Given the description of an element on the screen output the (x, y) to click on. 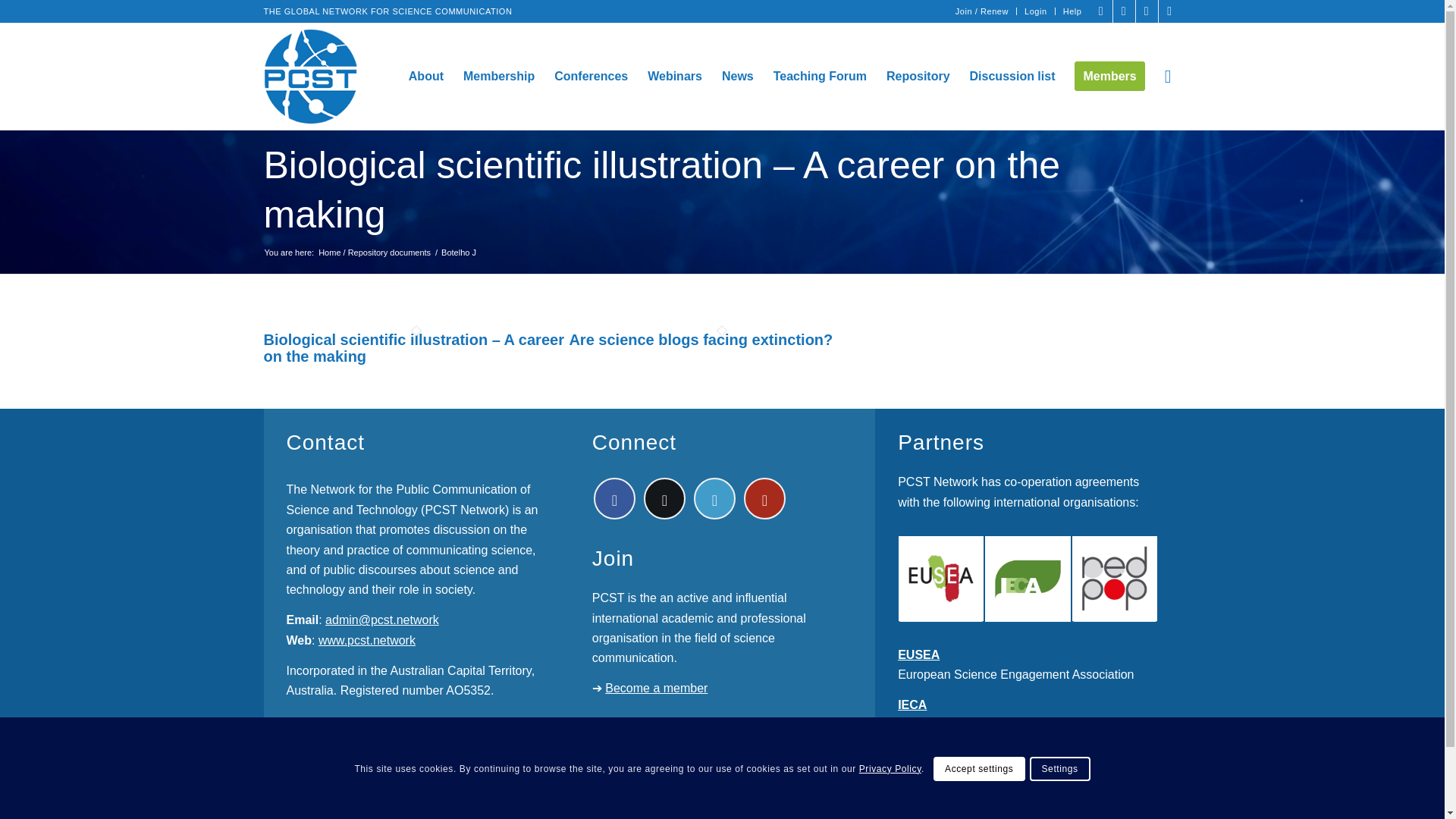
Are science blogs facing extinction? (700, 339)
LinkedIn (1146, 11)
PCST Network (373, 245)
Login (1035, 11)
Facebook (1101, 11)
Teaching Forum (819, 76)
Youtube (1169, 11)
Help (1071, 11)
X (1124, 11)
